Given the description of an element on the screen output the (x, y) to click on. 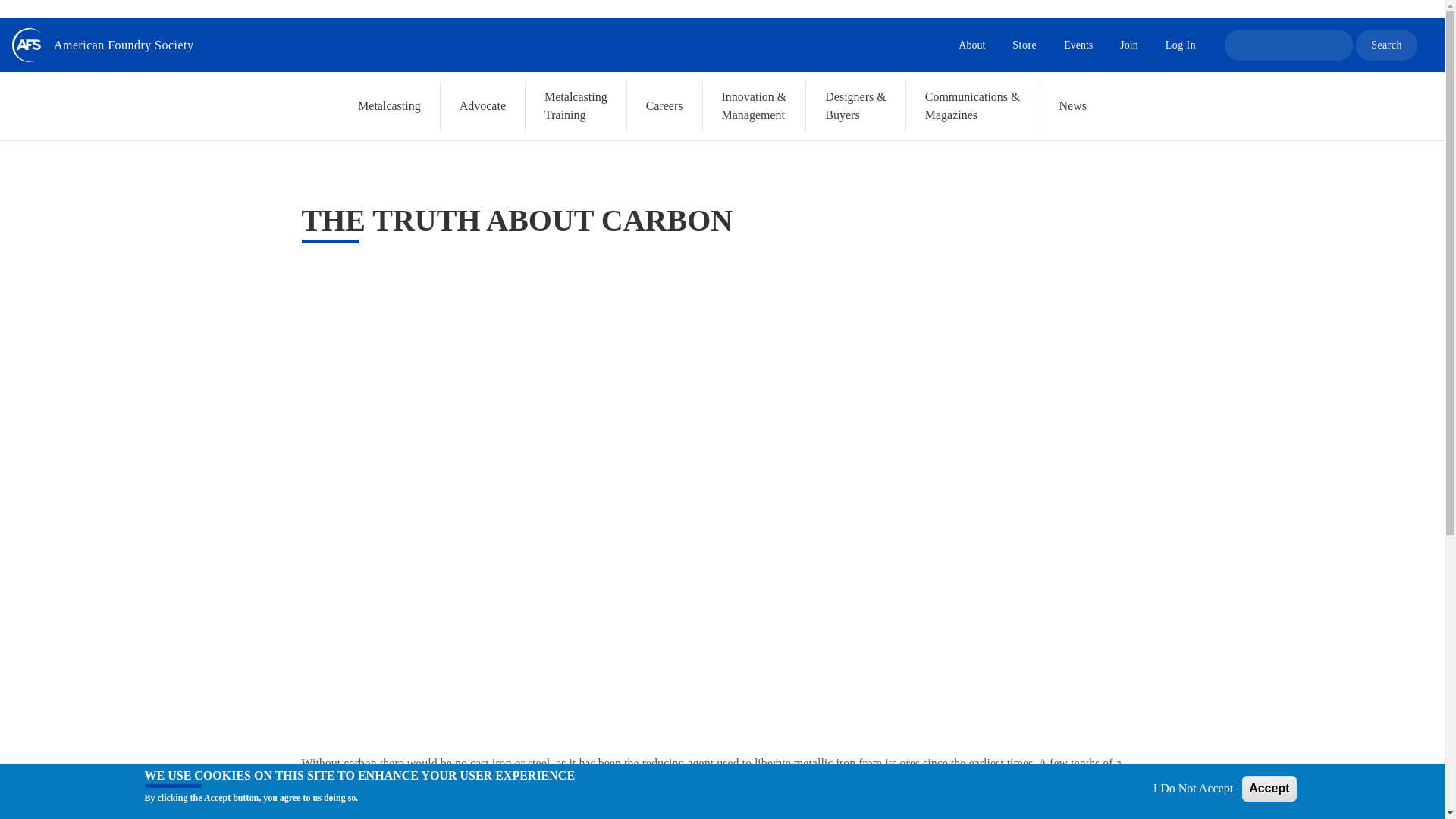
American Foundry Society (123, 43)
Home (123, 43)
Enter the terms you wish to search for. (1288, 44)
Search (1385, 44)
Log In (1180, 44)
Store (1024, 44)
Search (1385, 44)
